Given the description of an element on the screen output the (x, y) to click on. 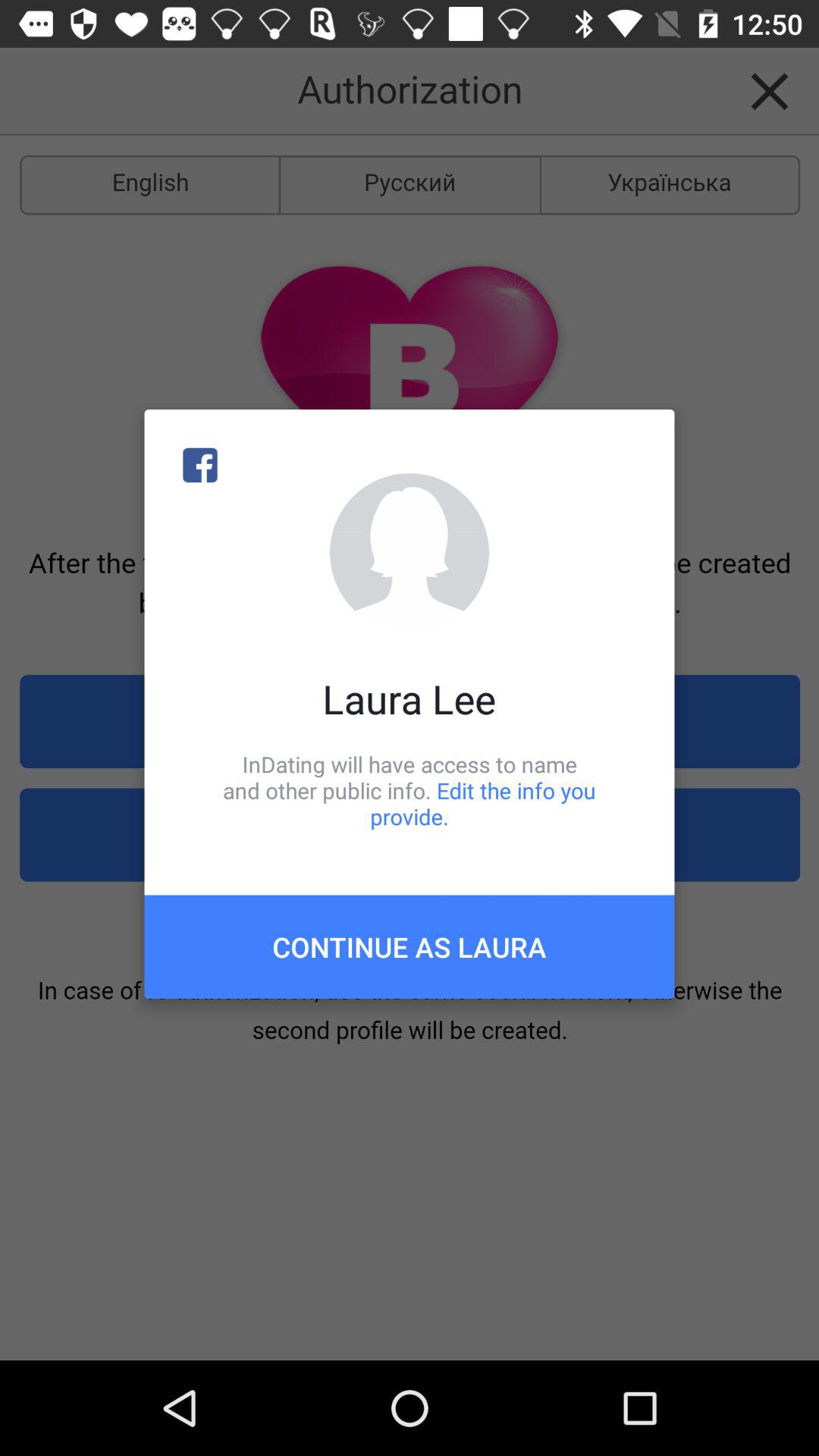
flip to the continue as laura (409, 946)
